Given the description of an element on the screen output the (x, y) to click on. 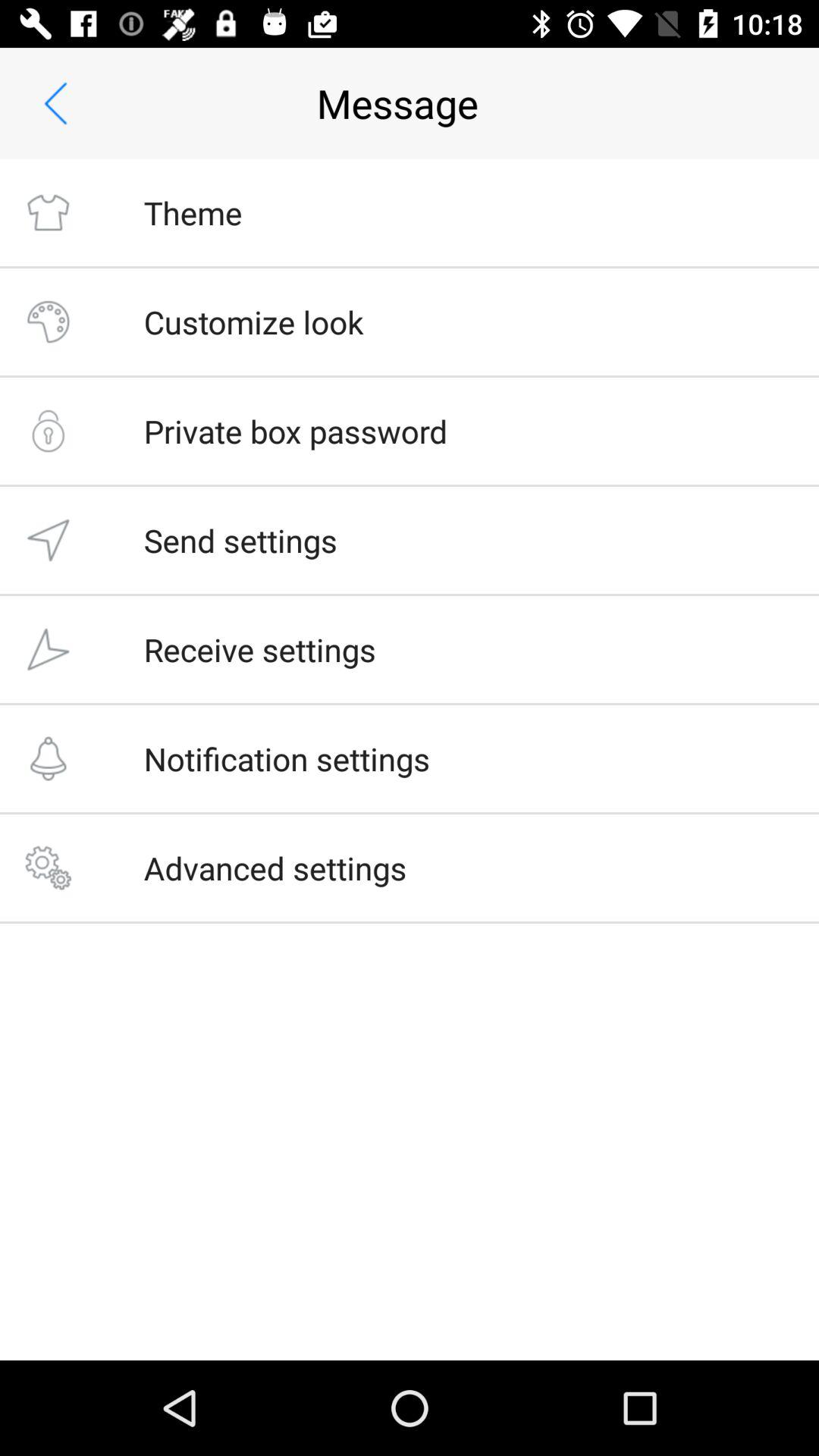
open the item next to the message item (55, 103)
